Given the description of an element on the screen output the (x, y) to click on. 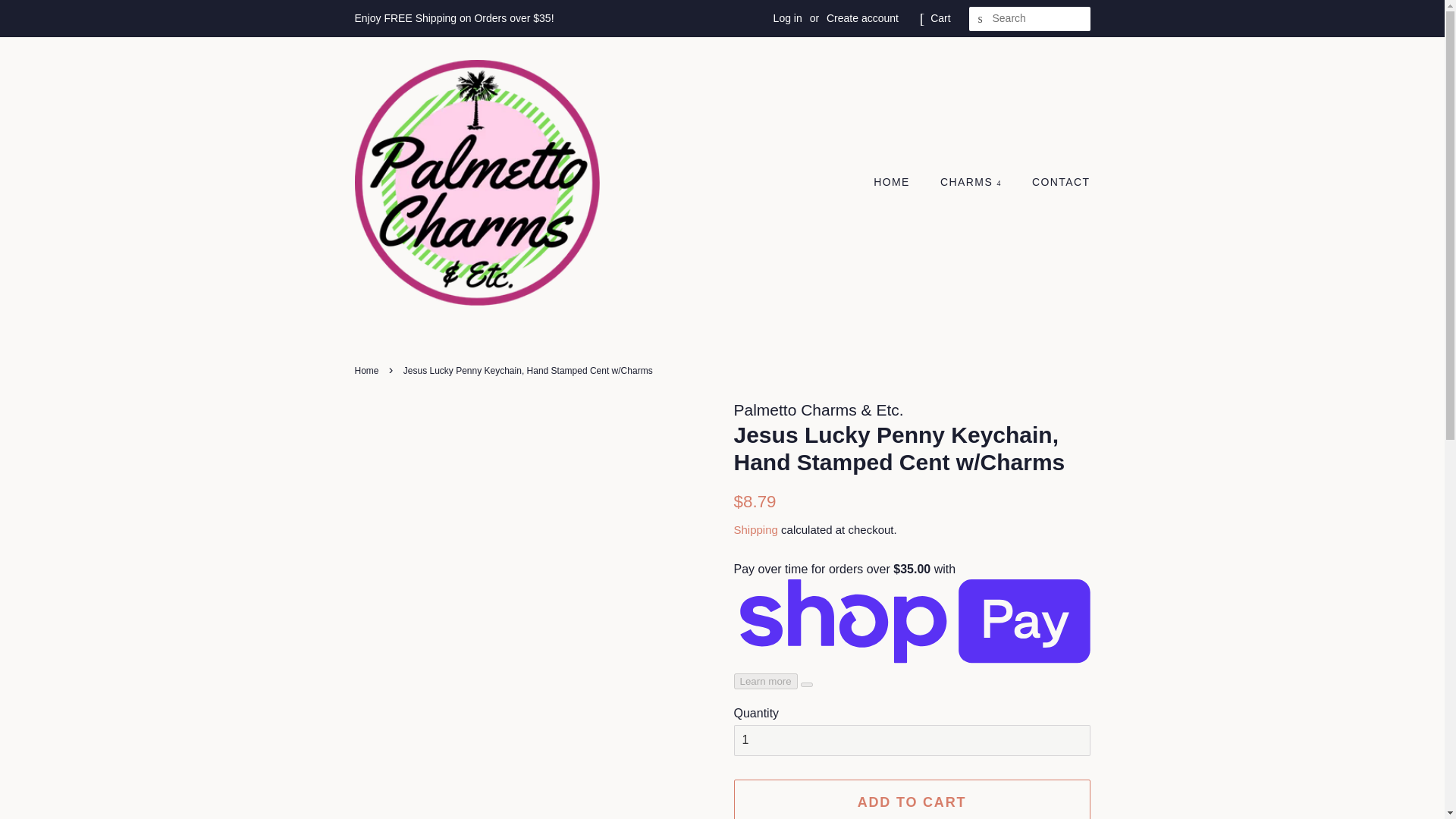
Cart (940, 18)
Create account (862, 18)
CONTACT (1054, 182)
Shipping (755, 529)
CHARMS (972, 182)
1 (911, 739)
Home (368, 370)
HOME (898, 182)
SEARCH (980, 18)
Back to the frontpage (368, 370)
Log in (787, 18)
ADD TO CART (911, 799)
